Given the description of an element on the screen output the (x, y) to click on. 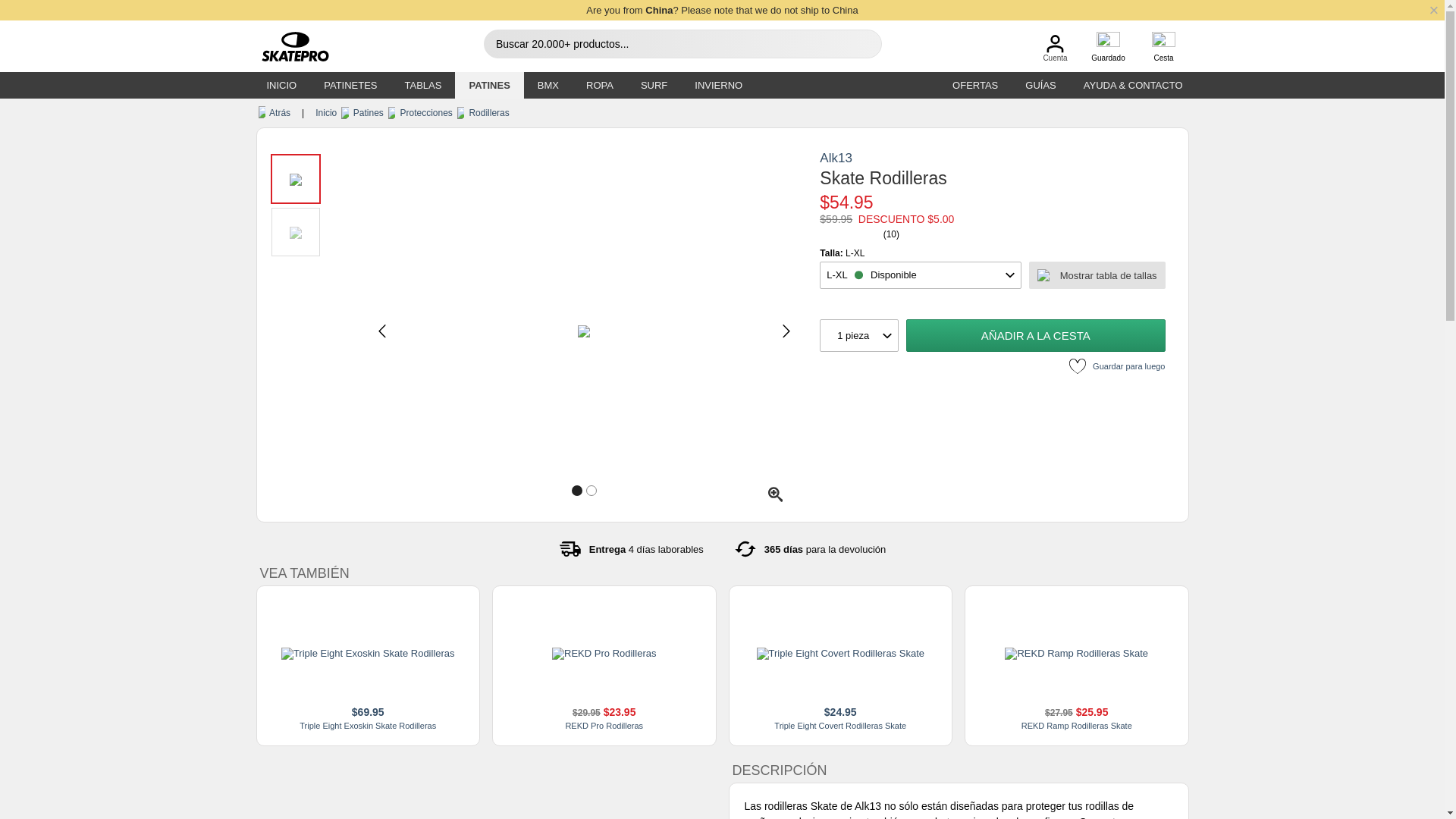
Skate, Longboards y Cruiser skates (423, 85)
SkatePro (288, 46)
